Given the description of an element on the screen output the (x, y) to click on. 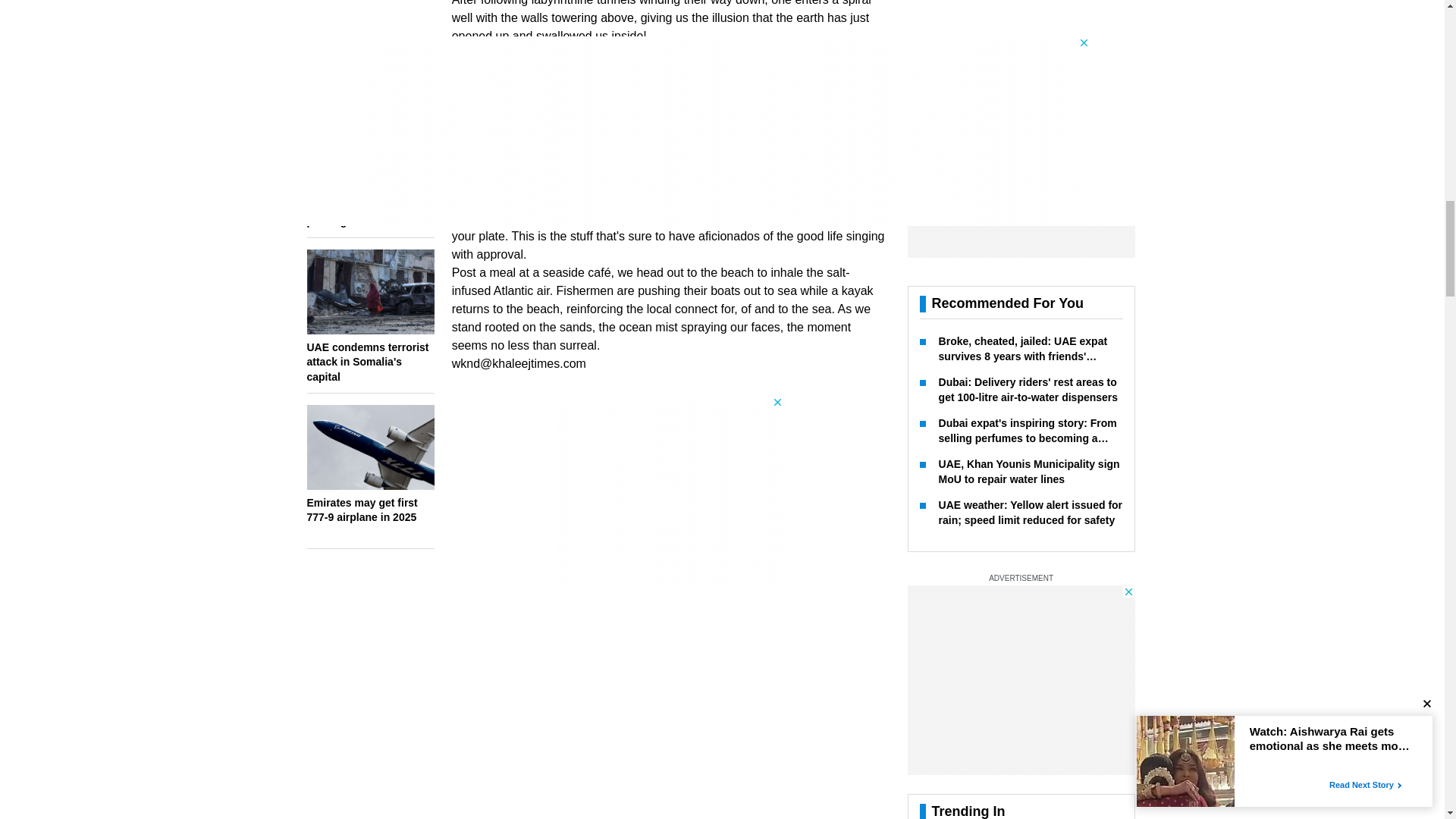
3rd party ad content (670, 490)
